Given the description of an element on the screen output the (x, y) to click on. 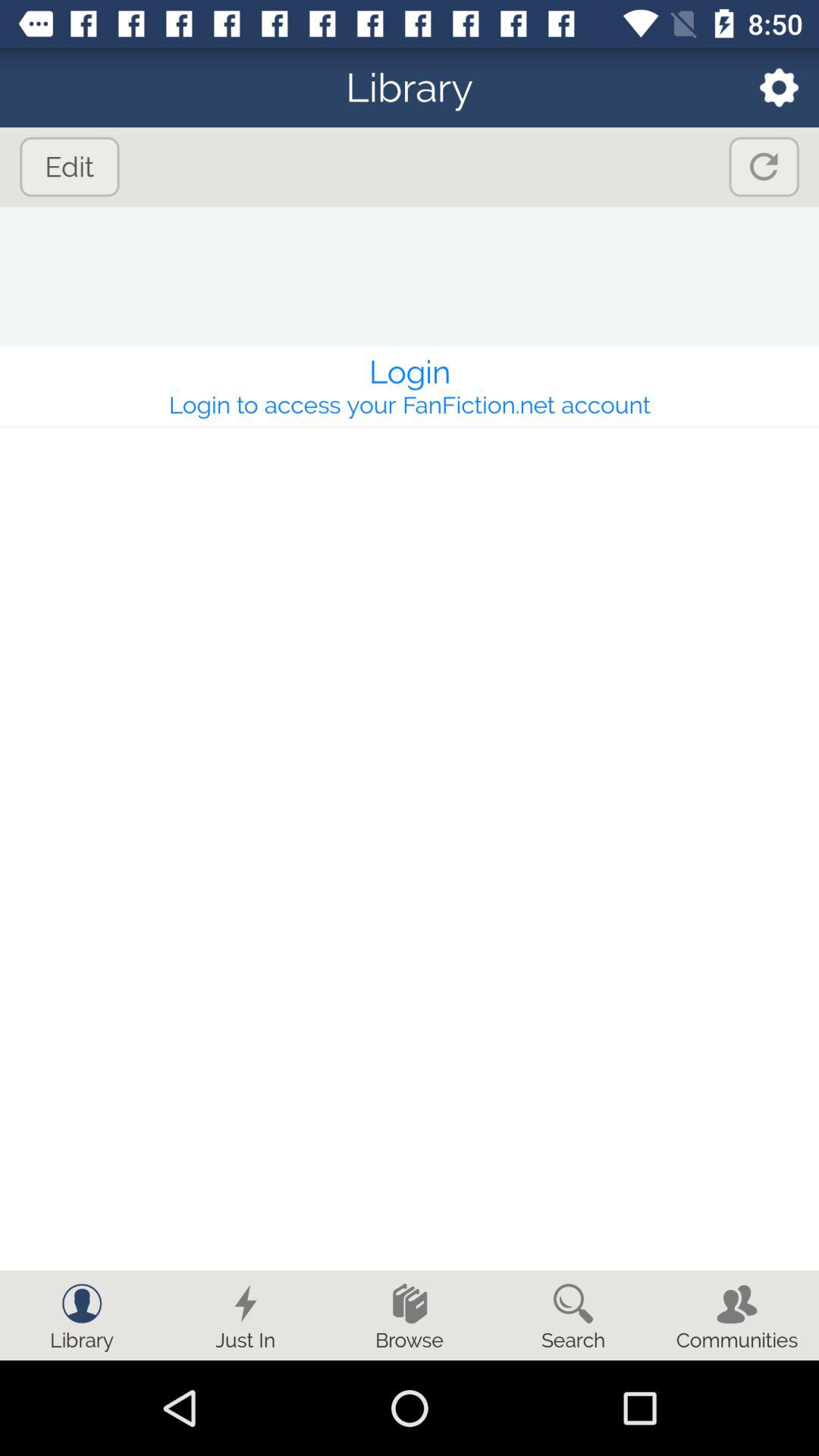
settings (769, 87)
